Given the description of an element on the screen output the (x, y) to click on. 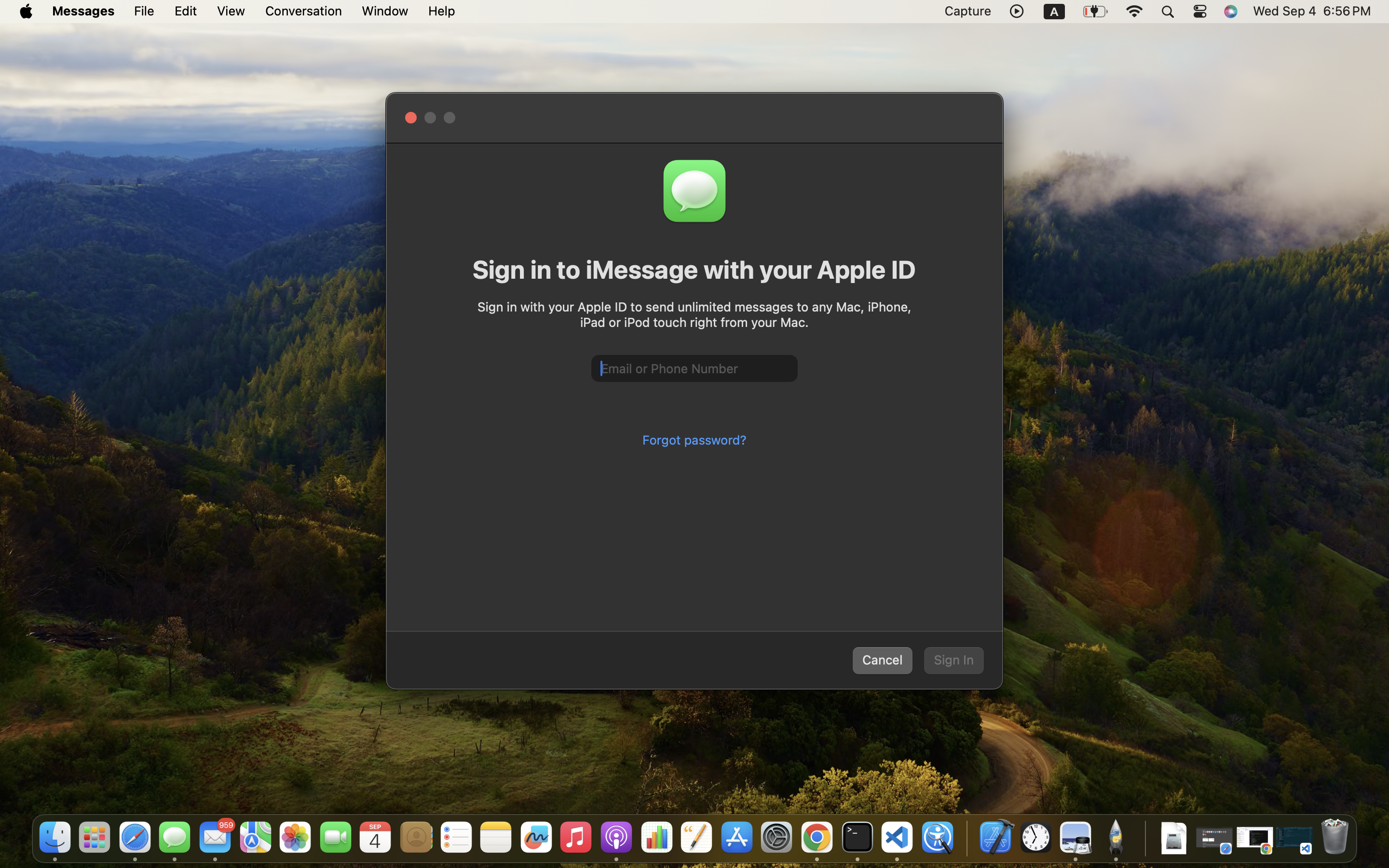
0.4285714328289032 Element type: AXDockItem (965, 837)
